Given the description of an element on the screen output the (x, y) to click on. 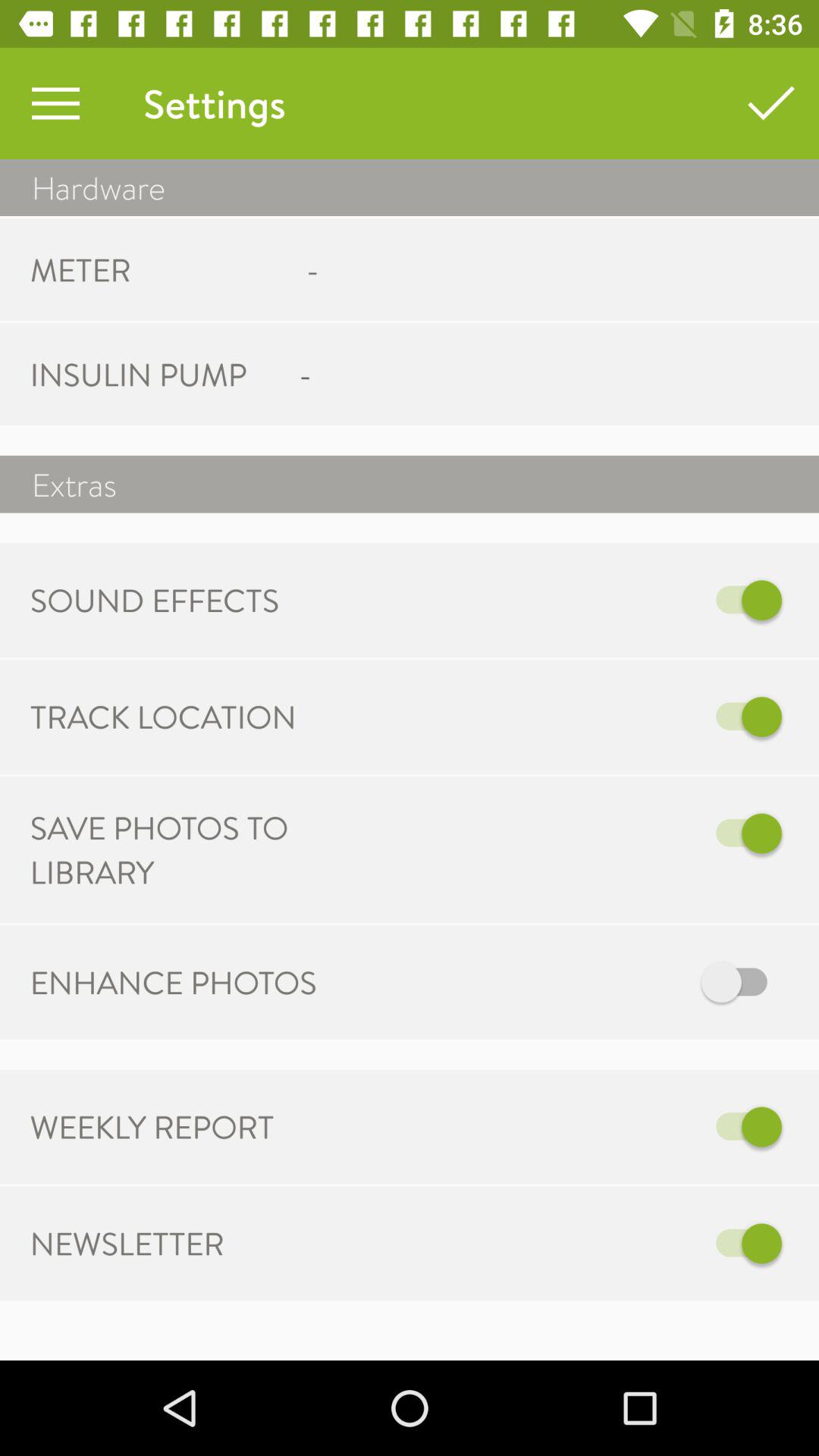
toggle sound effects setting (622, 600)
